Given the description of an element on the screen output the (x, y) to click on. 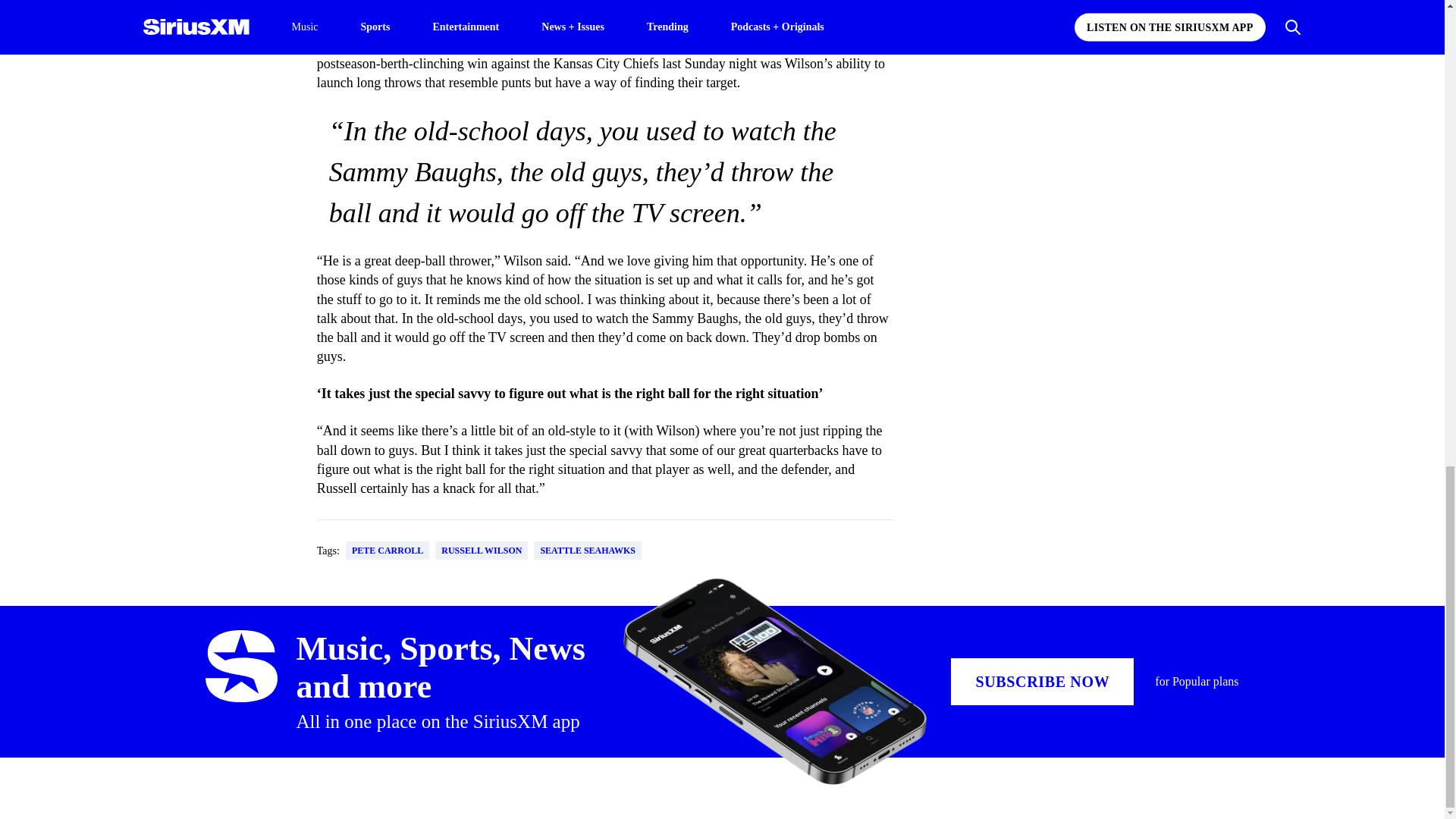
SUBSCRIBE NOW (1042, 681)
PETE CARROLL (387, 550)
SEATTLE SEAHAWKS (588, 550)
RUSSELL WILSON (481, 550)
